Given the description of an element on the screen output the (x, y) to click on. 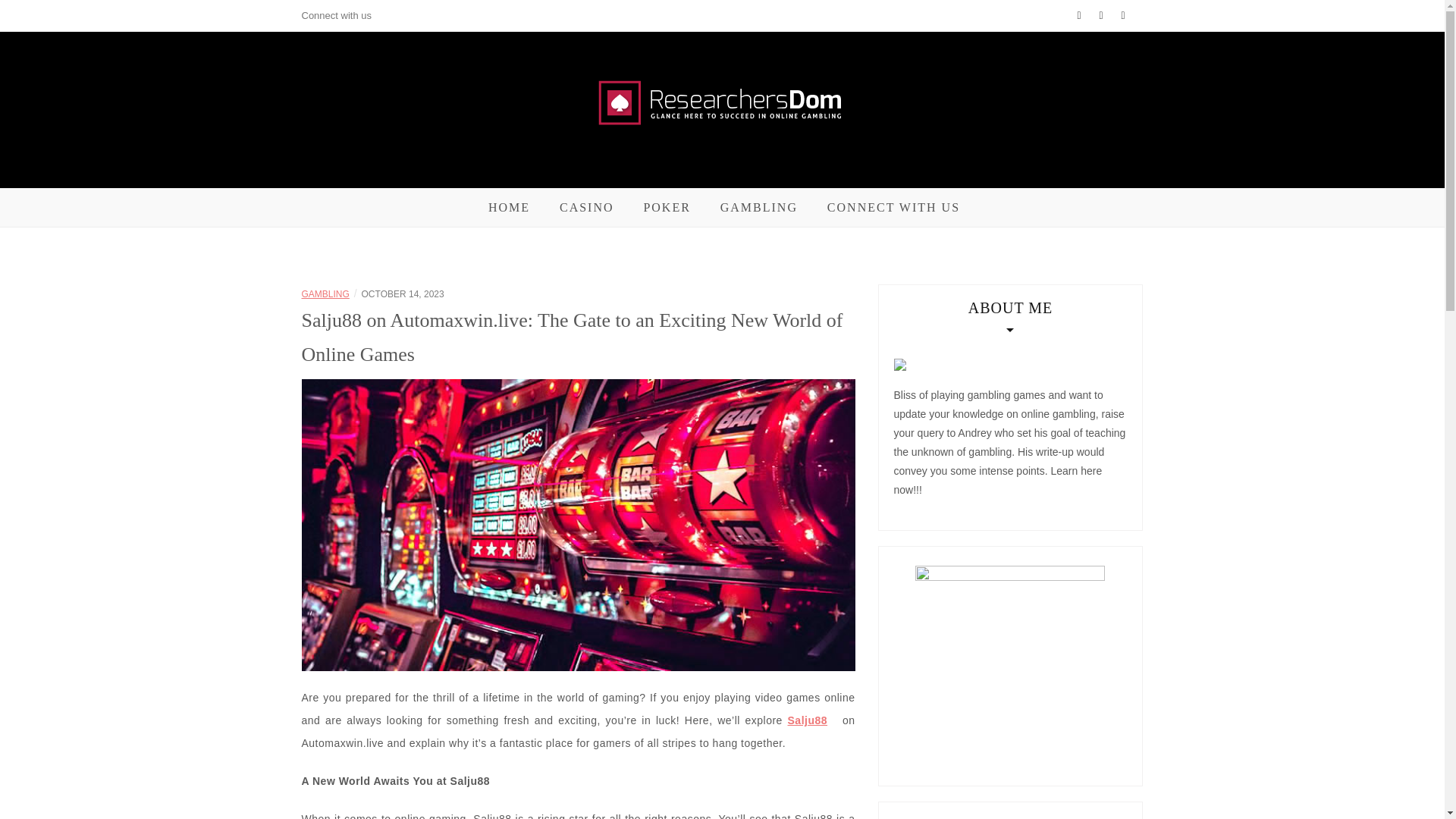
Salju88 (807, 720)
HOME (508, 207)
POKER (666, 207)
GAMBLING (325, 294)
CONNECT WITH US (893, 207)
CASINO (586, 207)
Connect with us (336, 15)
Researchers Dom (489, 182)
GAMBLING (758, 207)
